Given the description of an element on the screen output the (x, y) to click on. 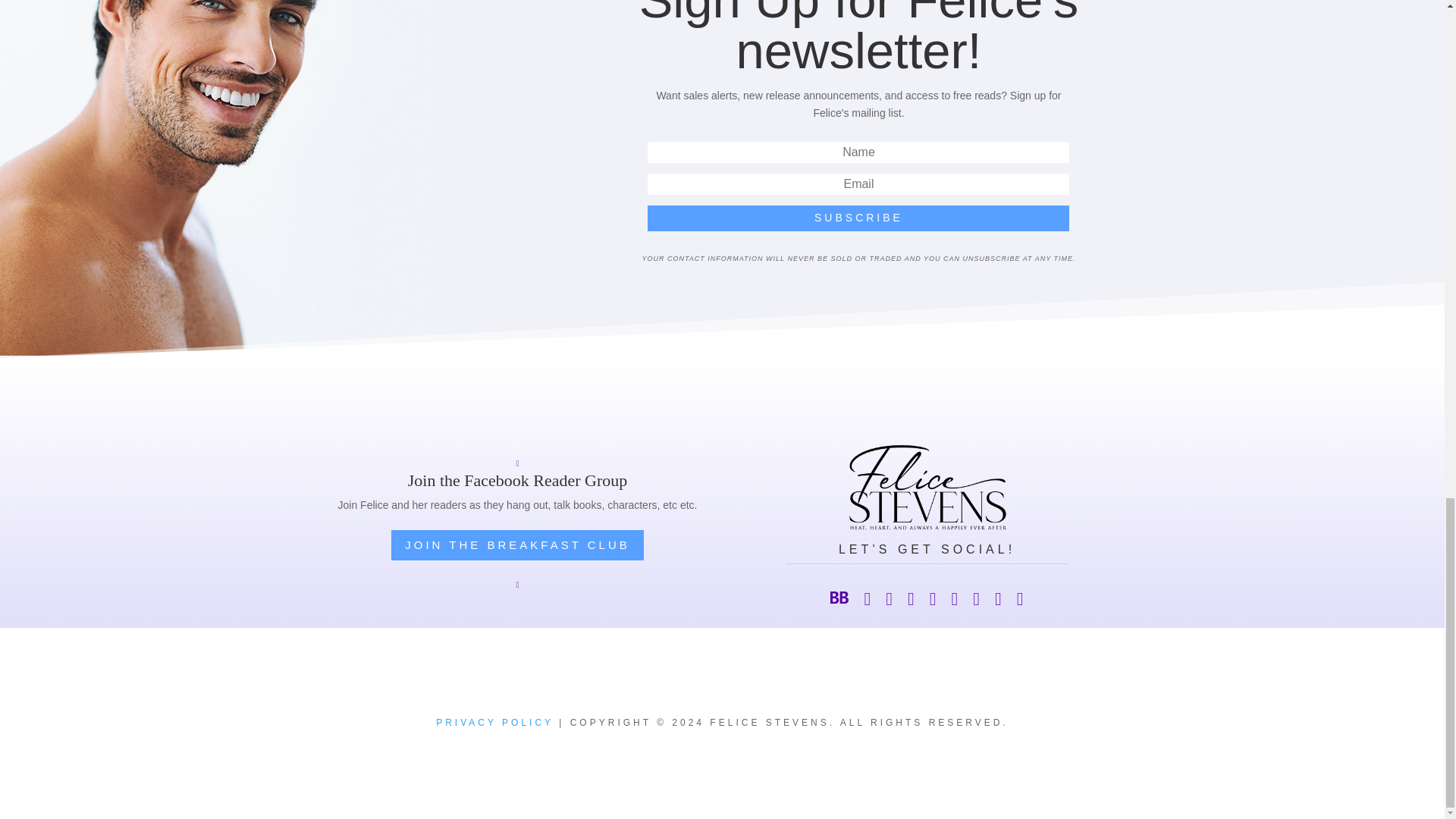
JOIN THE BREAKFAST CLUB (517, 545)
SUBSCRIBE (857, 217)
Felice Stevens (926, 488)
